Given the description of an element on the screen output the (x, y) to click on. 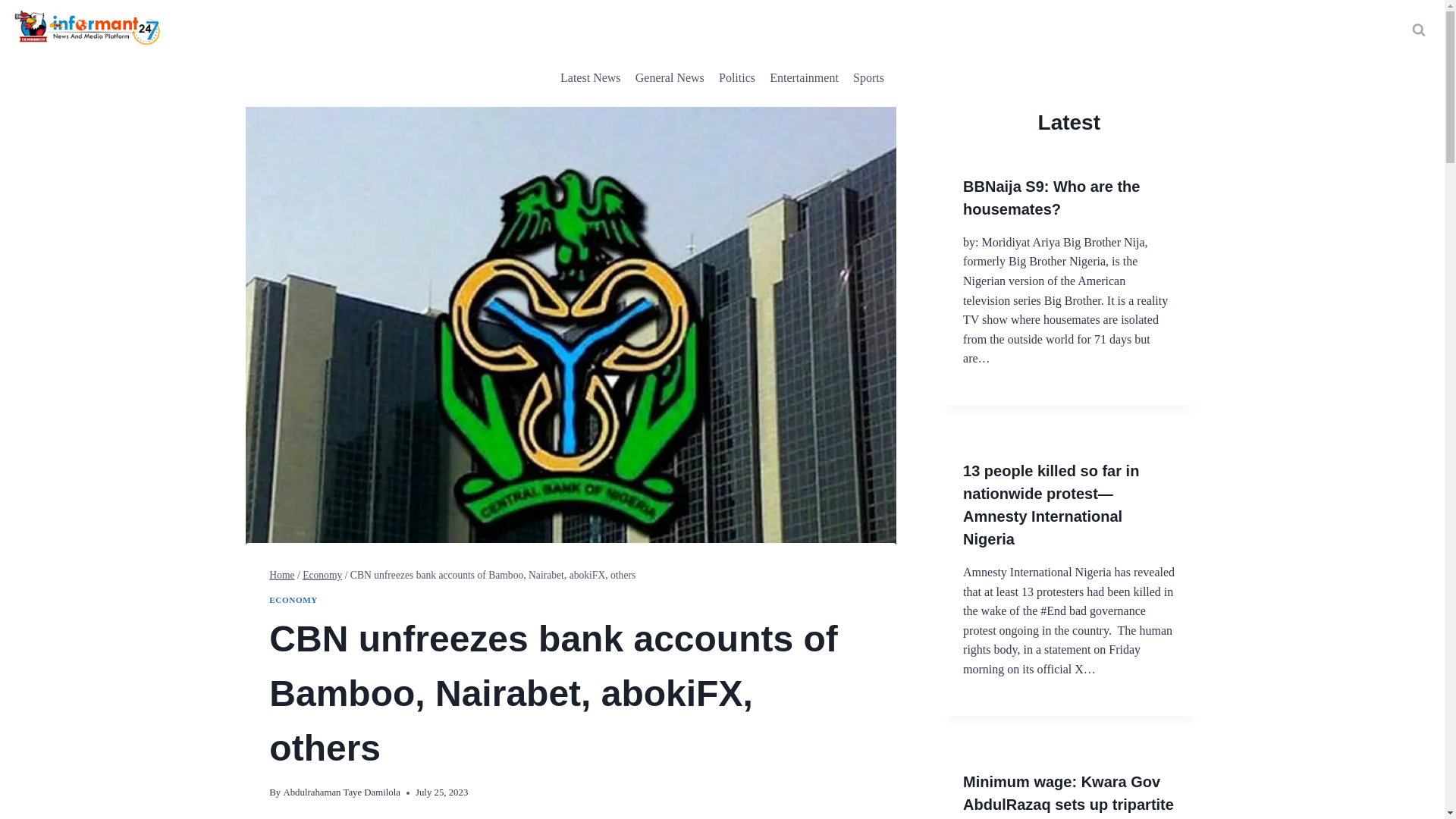
Nigeria Football News (868, 77)
Abdulrahaman Taye Damilola (341, 792)
Latest News (590, 77)
Latest News (590, 77)
Nigeria Political News (736, 77)
Home (281, 574)
Sports (868, 77)
Economy (322, 574)
Politics (736, 77)
Naija Gist (803, 77)
